Given the description of an element on the screen output the (x, y) to click on. 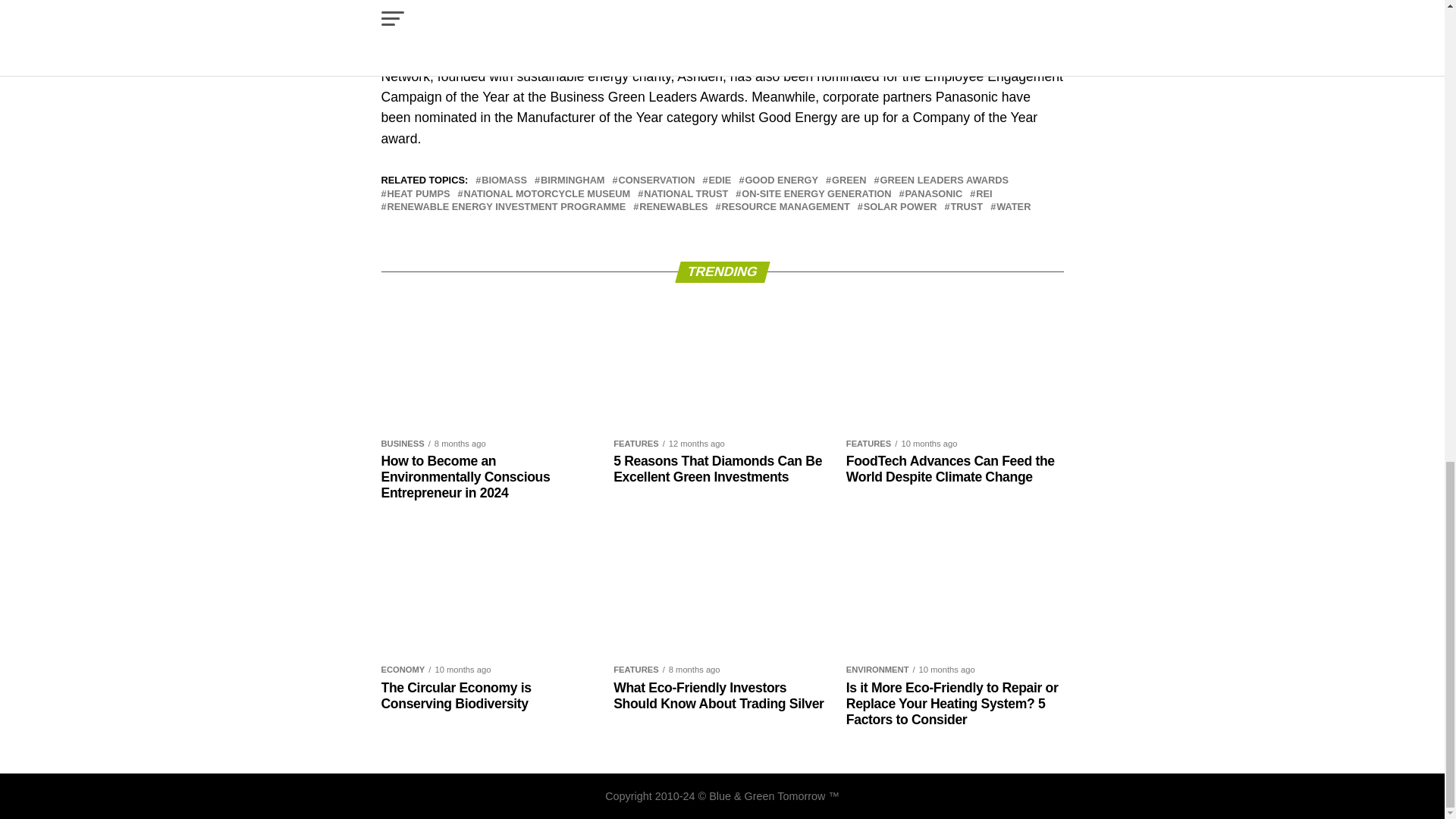
HEAT PUMPS (418, 194)
REI (983, 194)
PANASONIC (933, 194)
SOLAR POWER (900, 207)
NATIONAL MOTORCYCLE MUSEUM (546, 194)
GREEN LEADERS AWARDS (944, 180)
EDIE (718, 180)
CONSERVATION (656, 180)
RESOURCE MANAGEMENT (786, 207)
BIRMINGHAM (572, 180)
